Given the description of an element on the screen output the (x, y) to click on. 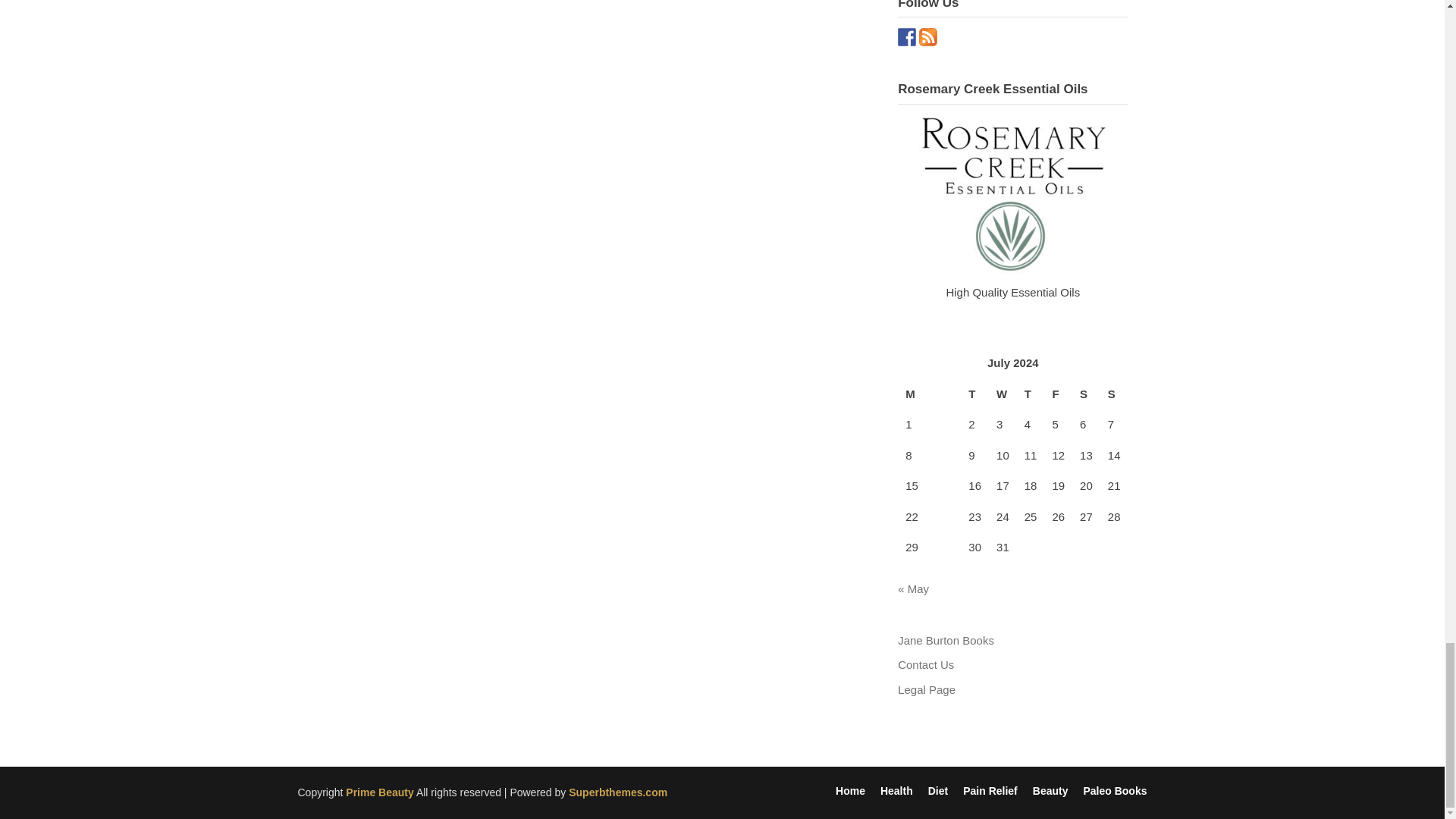
Monday (929, 395)
RSS Feed (927, 36)
Follow us on Facebook (906, 36)
Rosemary Creek Essential oils (1013, 193)
